Given the description of an element on the screen output the (x, y) to click on. 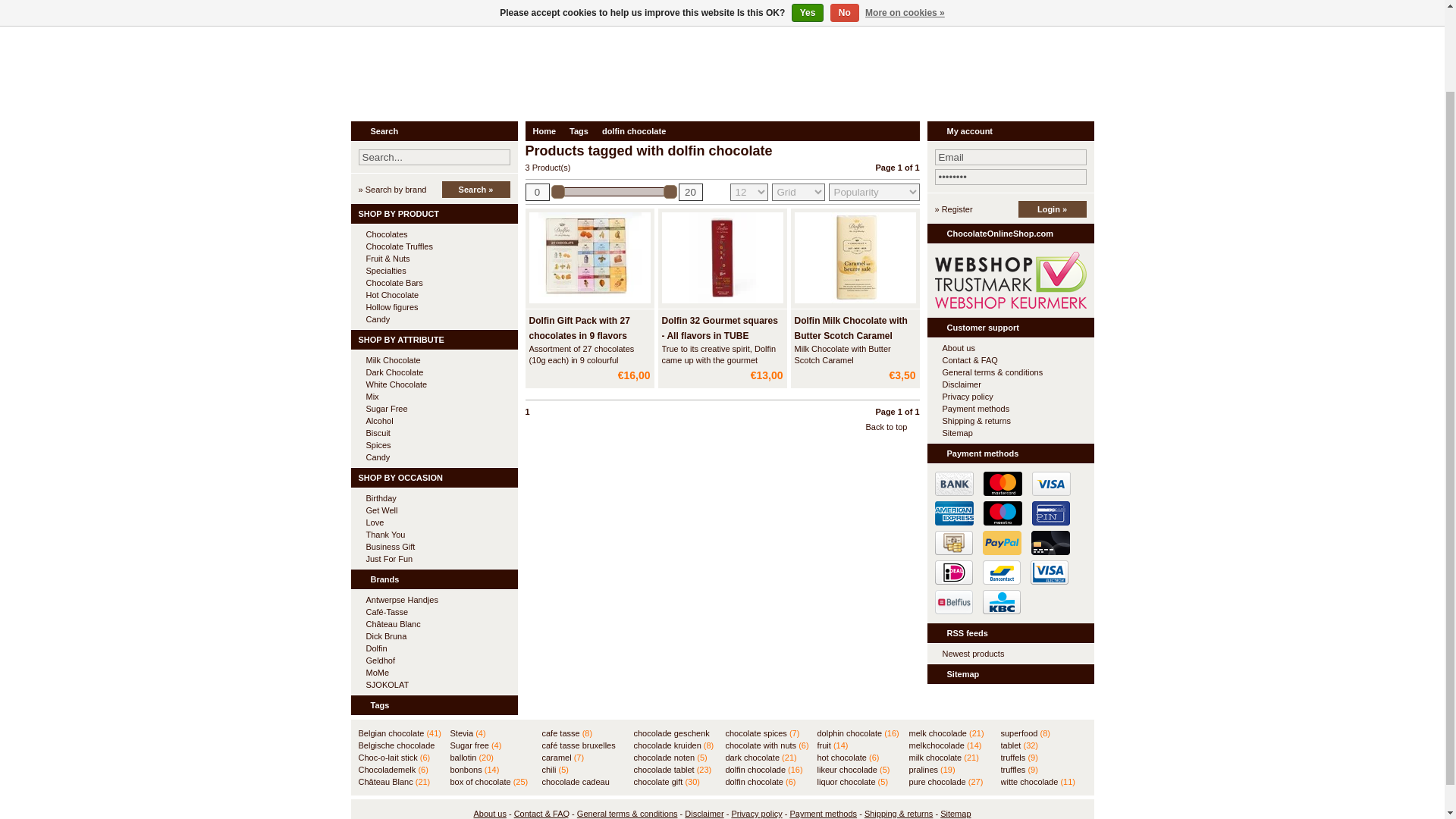
Password (1010, 176)
Birthday (433, 498)
Candy (433, 318)
Search by brand (392, 189)
Thank You (433, 534)
Chocolates (433, 234)
SHOP BY PRODUCT (433, 213)
Candy (433, 318)
Hollow figures (433, 306)
Specialties (433, 270)
